Given the description of an element on the screen output the (x, y) to click on. 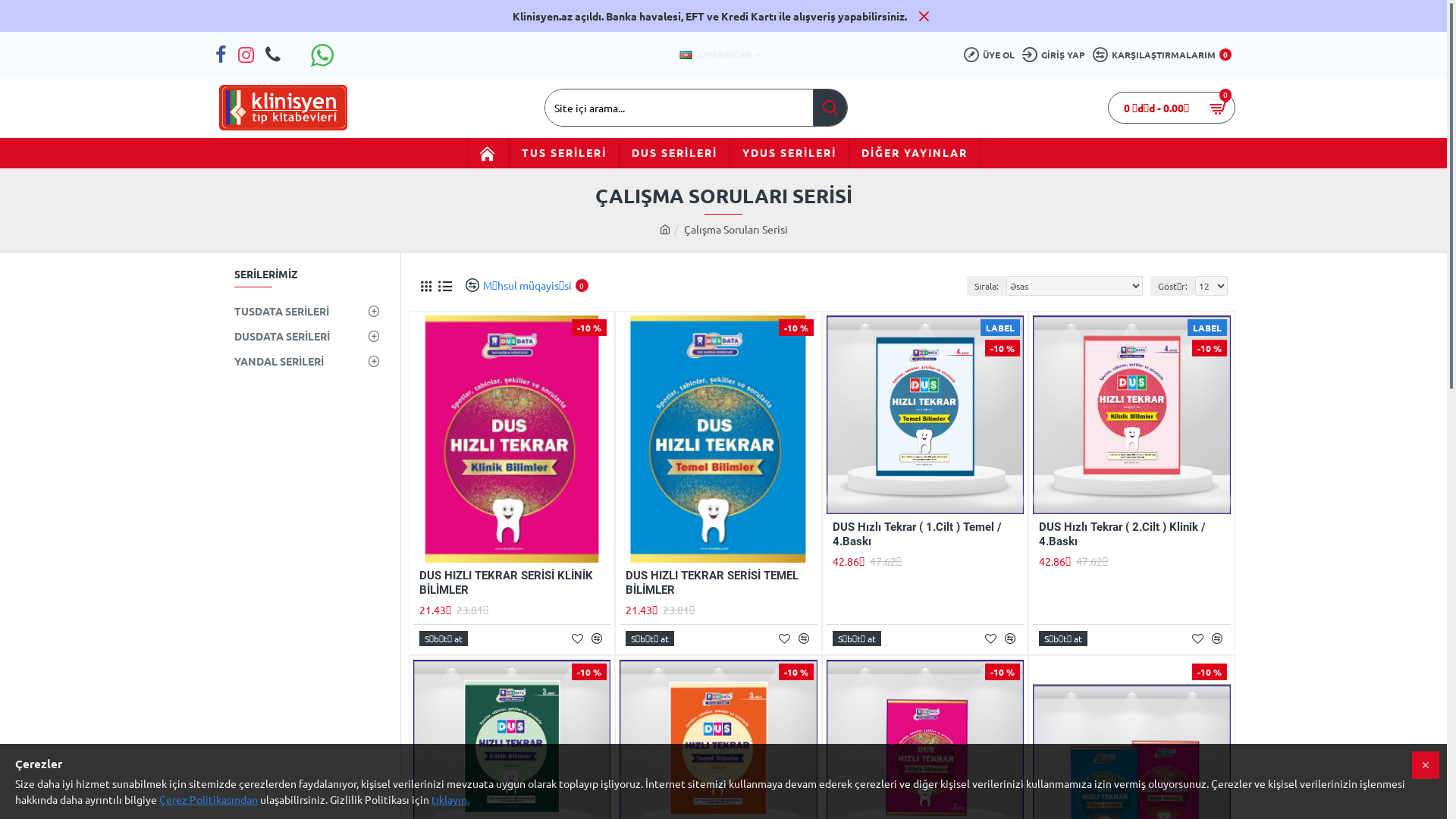
AZERBAYCAN Element type: text (714, 54)
Klinisyen Azerbeycan Element type: hover (283, 107)
Azerbaycan Element type: hover (685, 54)
